Given the description of an element on the screen output the (x, y) to click on. 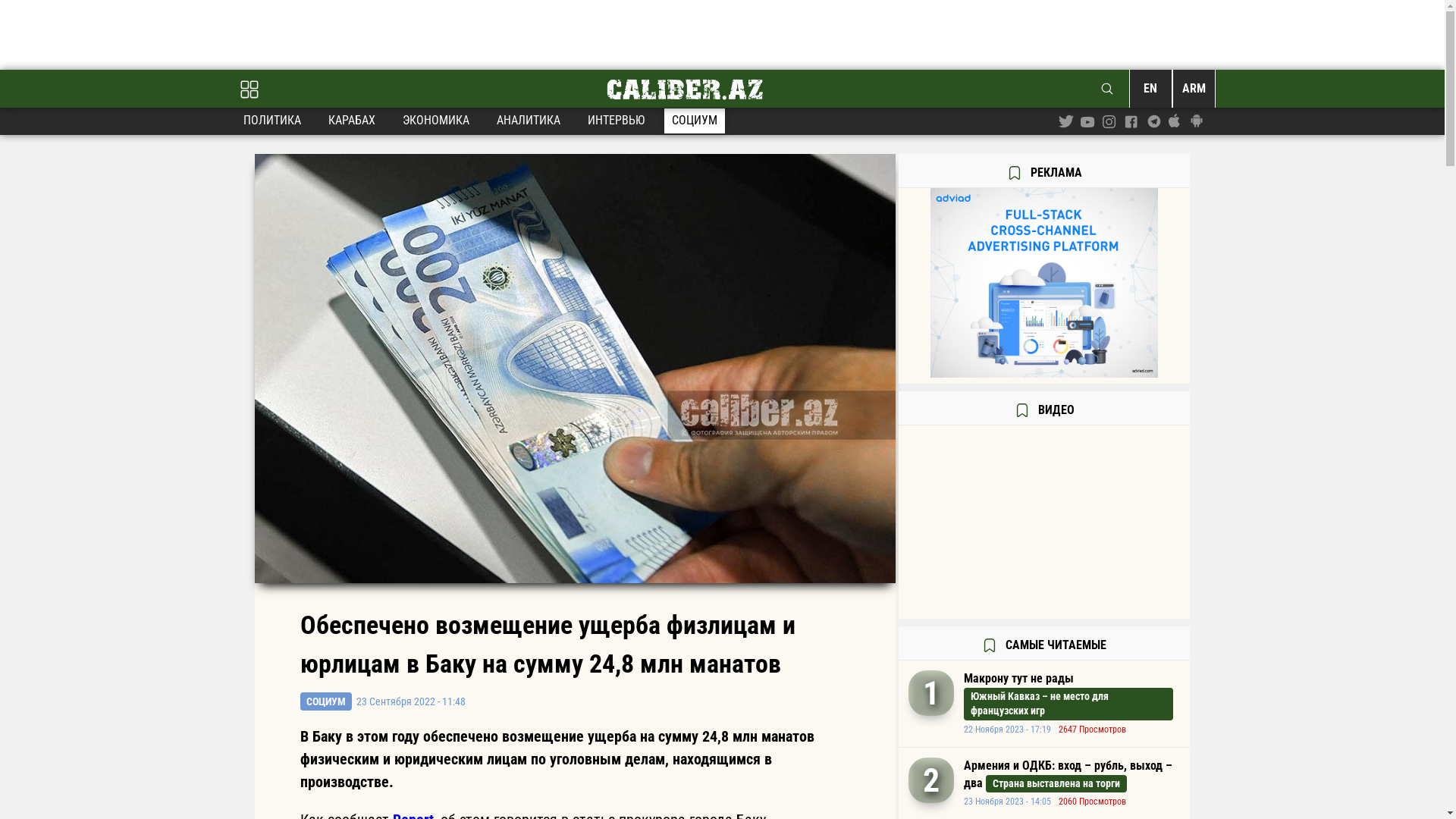
EN Element type: text (1149, 88)
ARM Element type: text (1193, 88)
Caliber TV Element type: hover (1044, 523)
